Given the description of an element on the screen output the (x, y) to click on. 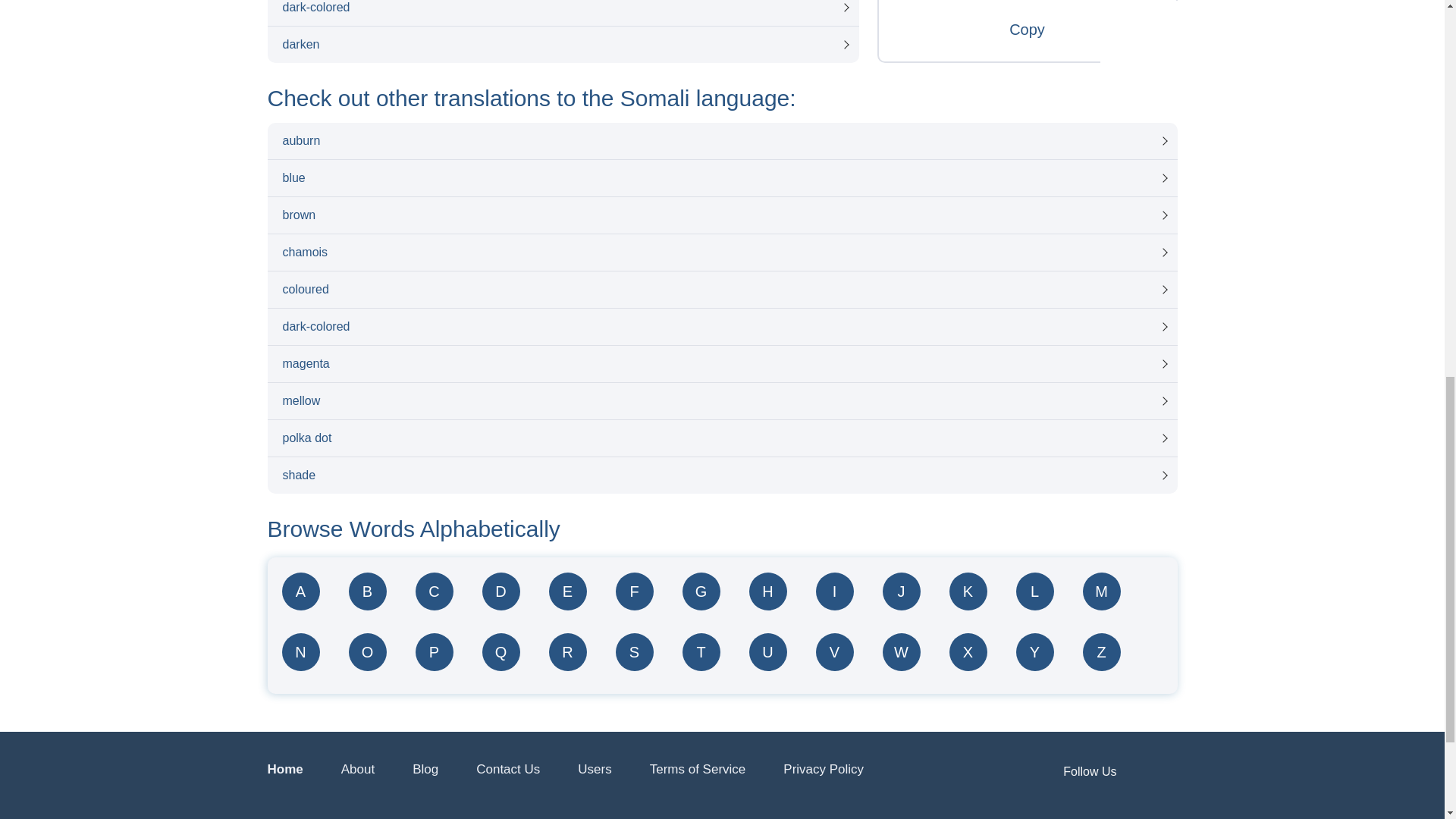
blue (721, 177)
chamois (721, 252)
coloured (721, 289)
dark-colored (562, 12)
auburn (721, 140)
shade (721, 475)
polka dot (721, 438)
magenta (721, 363)
mellow (721, 401)
brown (721, 215)
darken (562, 44)
dark-colored (721, 326)
